Given the description of an element on the screen output the (x, y) to click on. 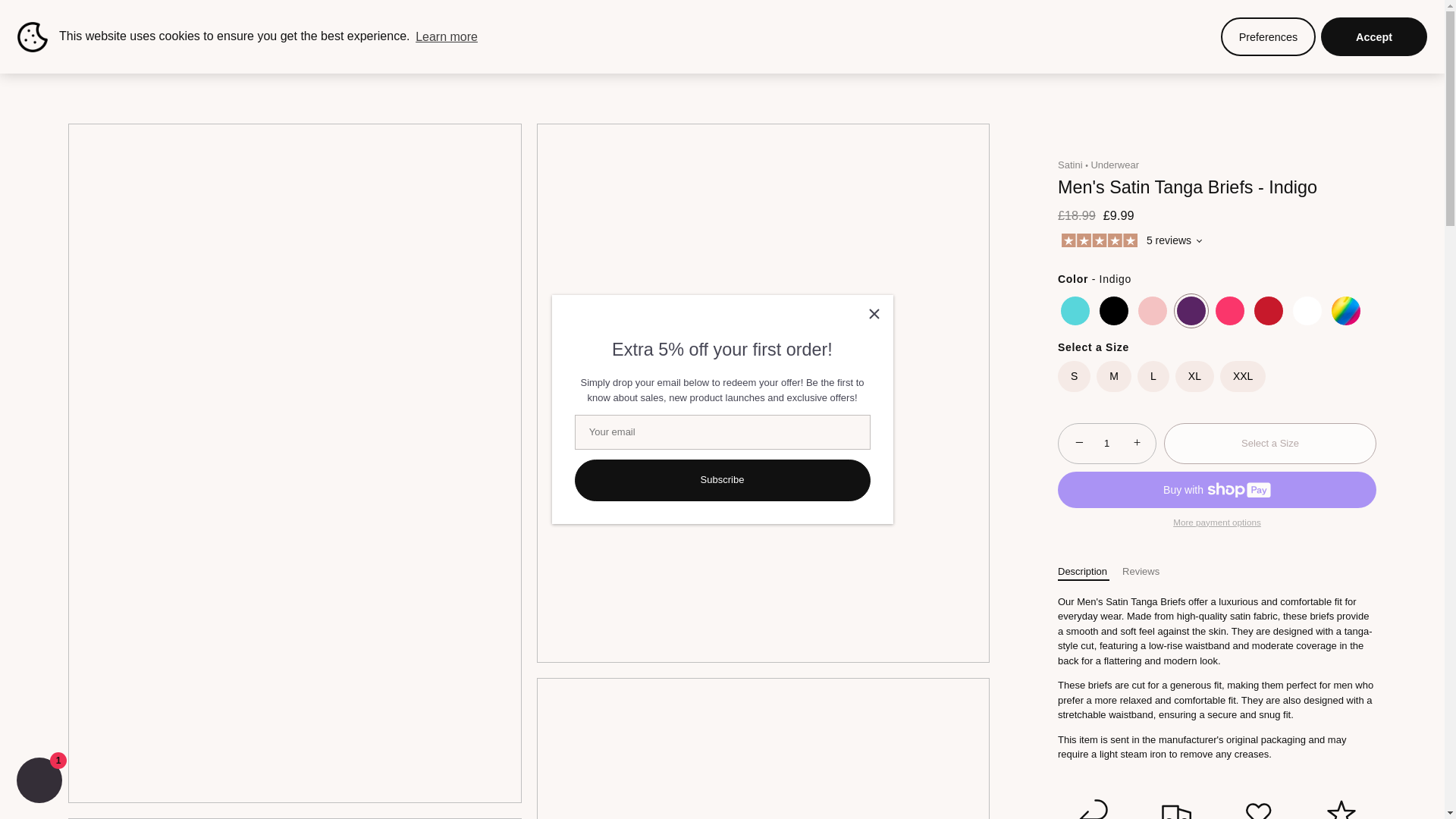
Preferences (1268, 36)
Men (724, 60)
Shopify online store chat (38, 781)
Accept (1373, 36)
Learn more (446, 36)
New (557, 60)
Basket (1410, 59)
Women (616, 60)
Customer reviews powered by Trustpilot (1128, 242)
1 (1106, 443)
Kids (674, 60)
Clearance (789, 60)
Sale (507, 60)
